Given the description of an element on the screen output the (x, y) to click on. 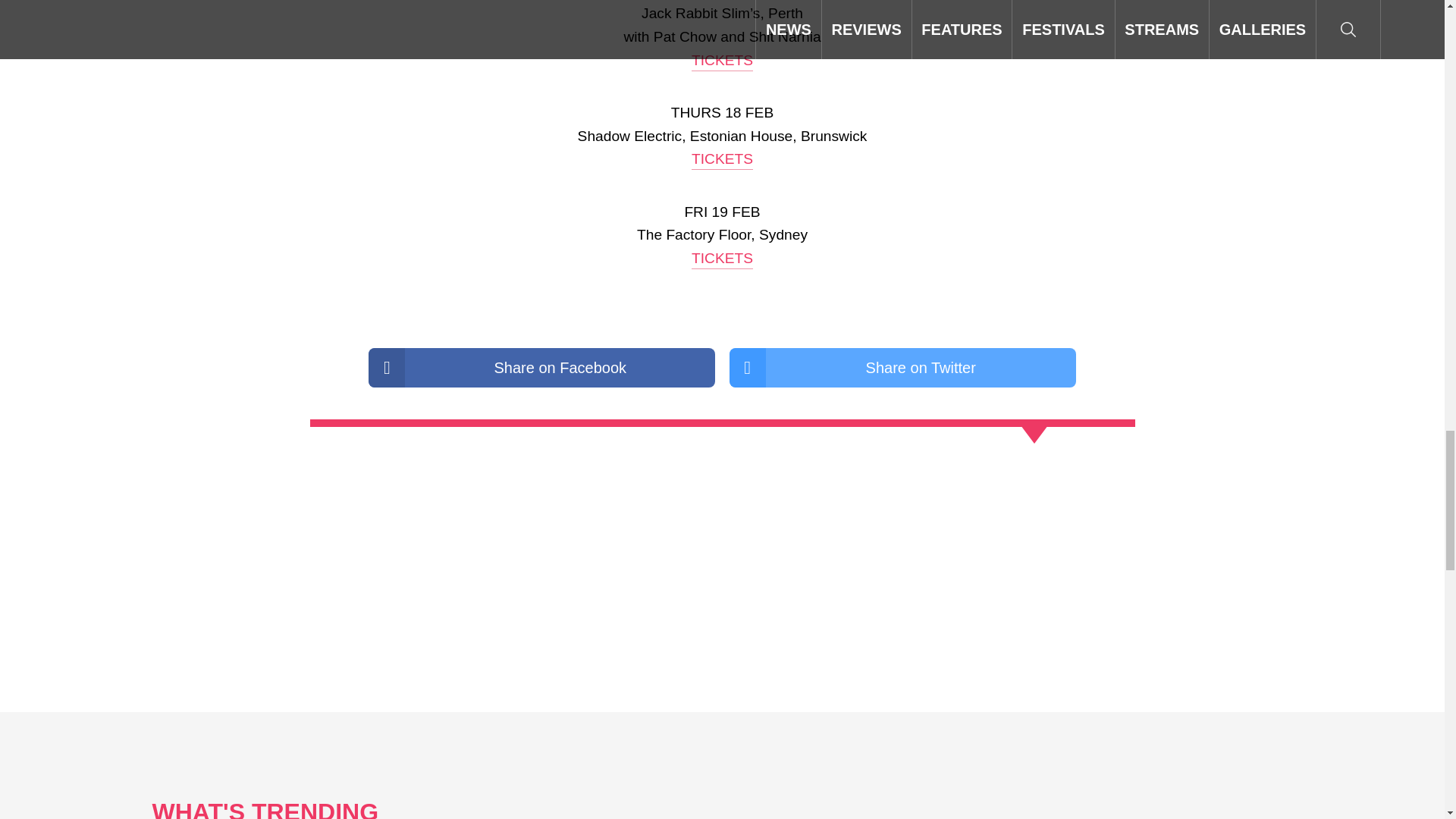
TICKETS (721, 259)
Share on Facebook (541, 367)
TICKETS (721, 159)
Share on Twitter (902, 367)
TICKETS (721, 60)
